Given the description of an element on the screen output the (x, y) to click on. 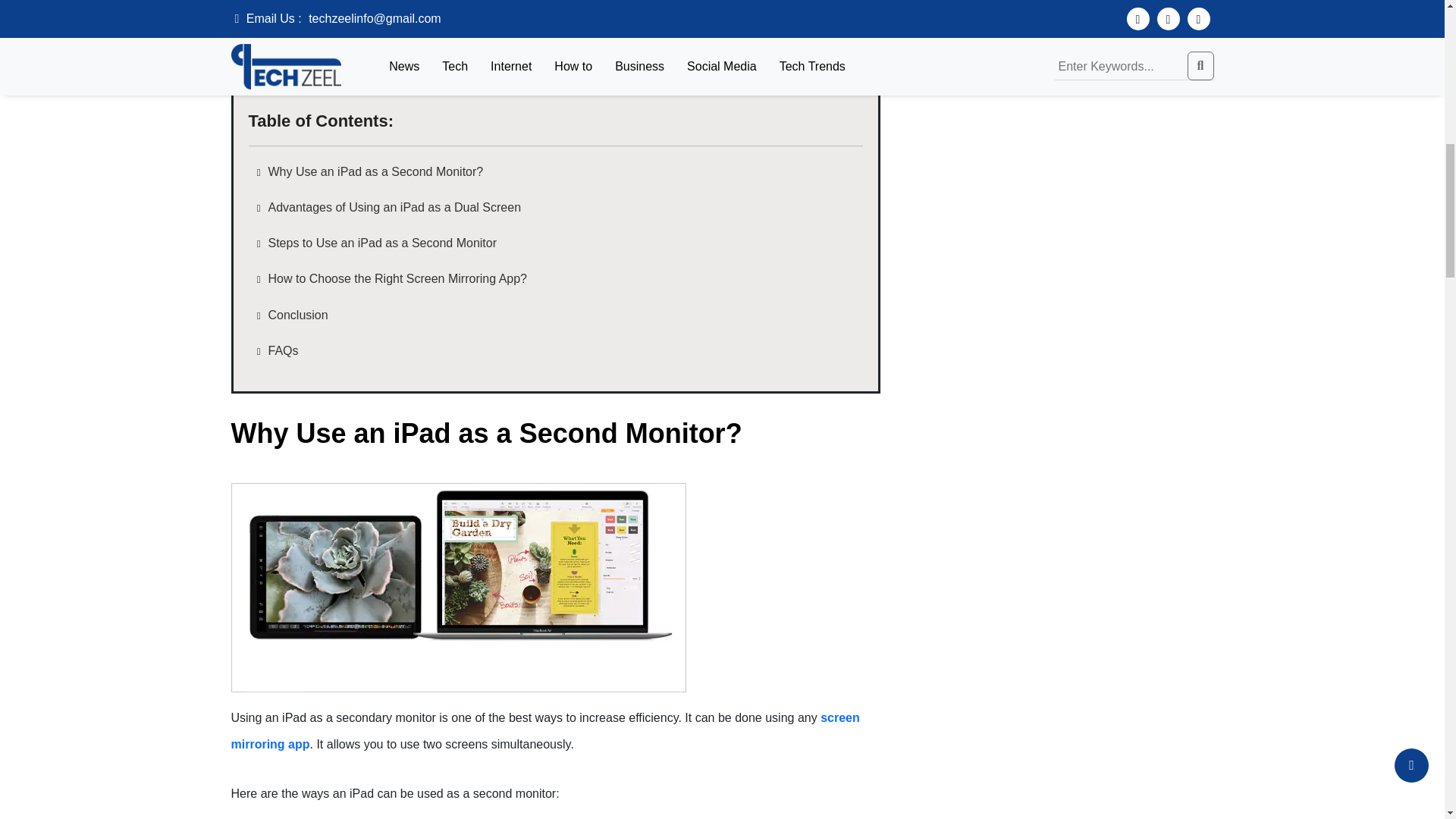
Advantages of Using an iPad as a Dual Screen (390, 206)
Conclusion (294, 314)
How to Choose the Right Screen Mirroring App? (393, 278)
Steps to Use an iPad as a Second Monitor (378, 242)
Why Use an iPad as a Second Monitor? (371, 171)
FAQs (279, 350)
screen mirroring app (544, 731)
